Given the description of an element on the screen output the (x, y) to click on. 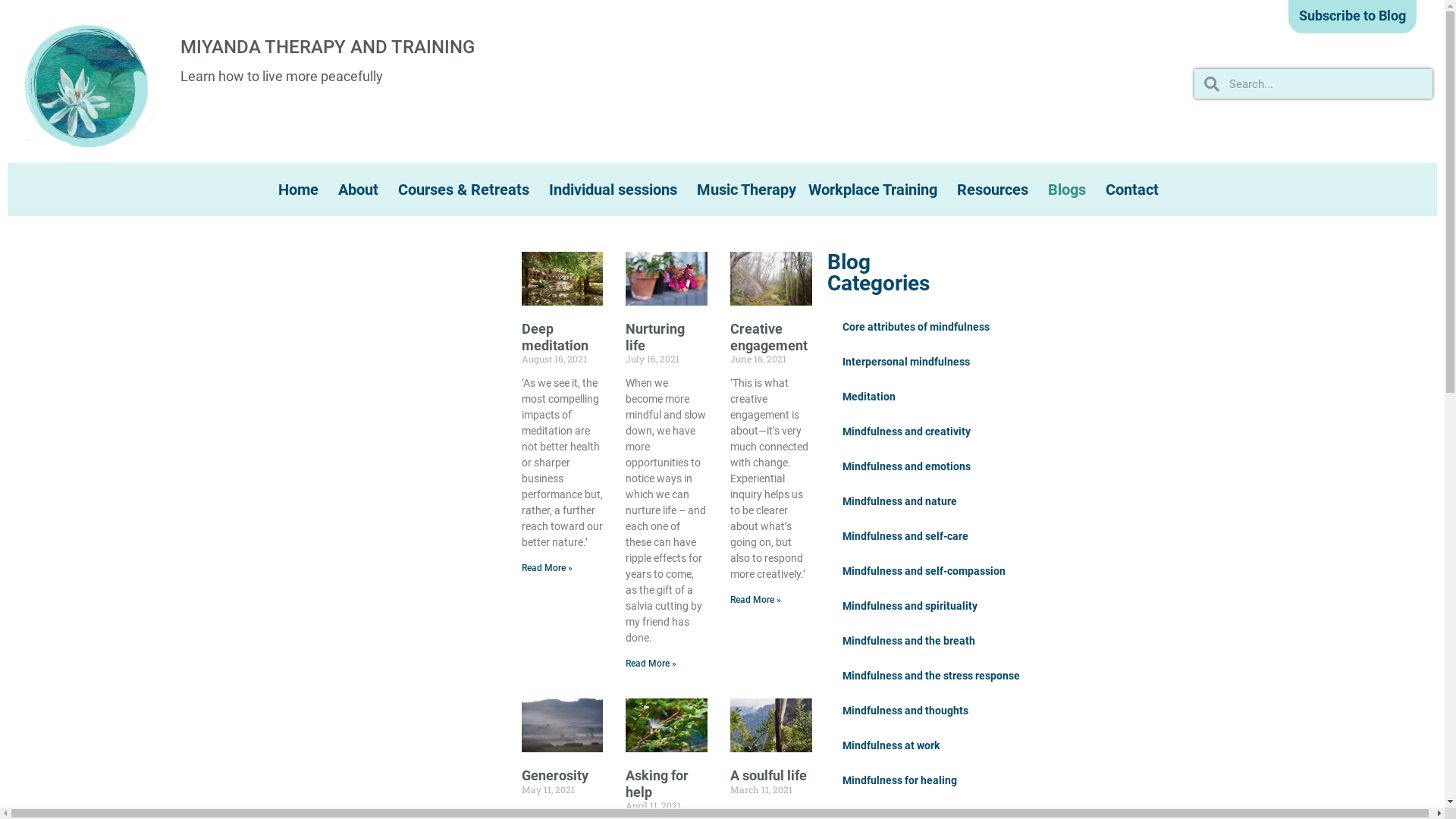
Meditation Element type: text (868, 396)
About Element type: text (362, 189)
Interpersonal mindfulness Element type: text (906, 361)
Mindfulness for healing Element type: text (899, 779)
Mindfulness and creativity Element type: text (906, 431)
Generosity Element type: text (554, 775)
Courses & Retreats Element type: text (467, 189)
Mindfulness and the breath Element type: text (908, 640)
Creative engagement Element type: text (768, 336)
Nurturing life Element type: text (654, 336)
Workplace Training Element type: text (876, 189)
Mindfulness and emotions Element type: text (906, 465)
Blogs Element type: text (1070, 189)
Individual sessions Element type: text (616, 189)
Mindfulness and self-care Element type: text (905, 535)
Mindfulness and the stress response Element type: text (931, 675)
Core attributes of mindfulness Element type: text (915, 326)
A soulful life Element type: text (768, 775)
Mindfulness at work Element type: text (890, 745)
Deep meditation Element type: text (554, 336)
Mindfulness and thoughts Element type: text (905, 710)
Mindfulness and spirituality Element type: text (909, 605)
Music Therapy Element type: text (746, 189)
Resources Element type: text (995, 189)
Mindfulness and self-compassion Element type: text (923, 570)
Asking for help Element type: text (656, 783)
Mindfulness and nature Element type: text (899, 500)
Home Element type: text (302, 189)
Contact Element type: text (1135, 189)
